Given the description of an element on the screen output the (x, y) to click on. 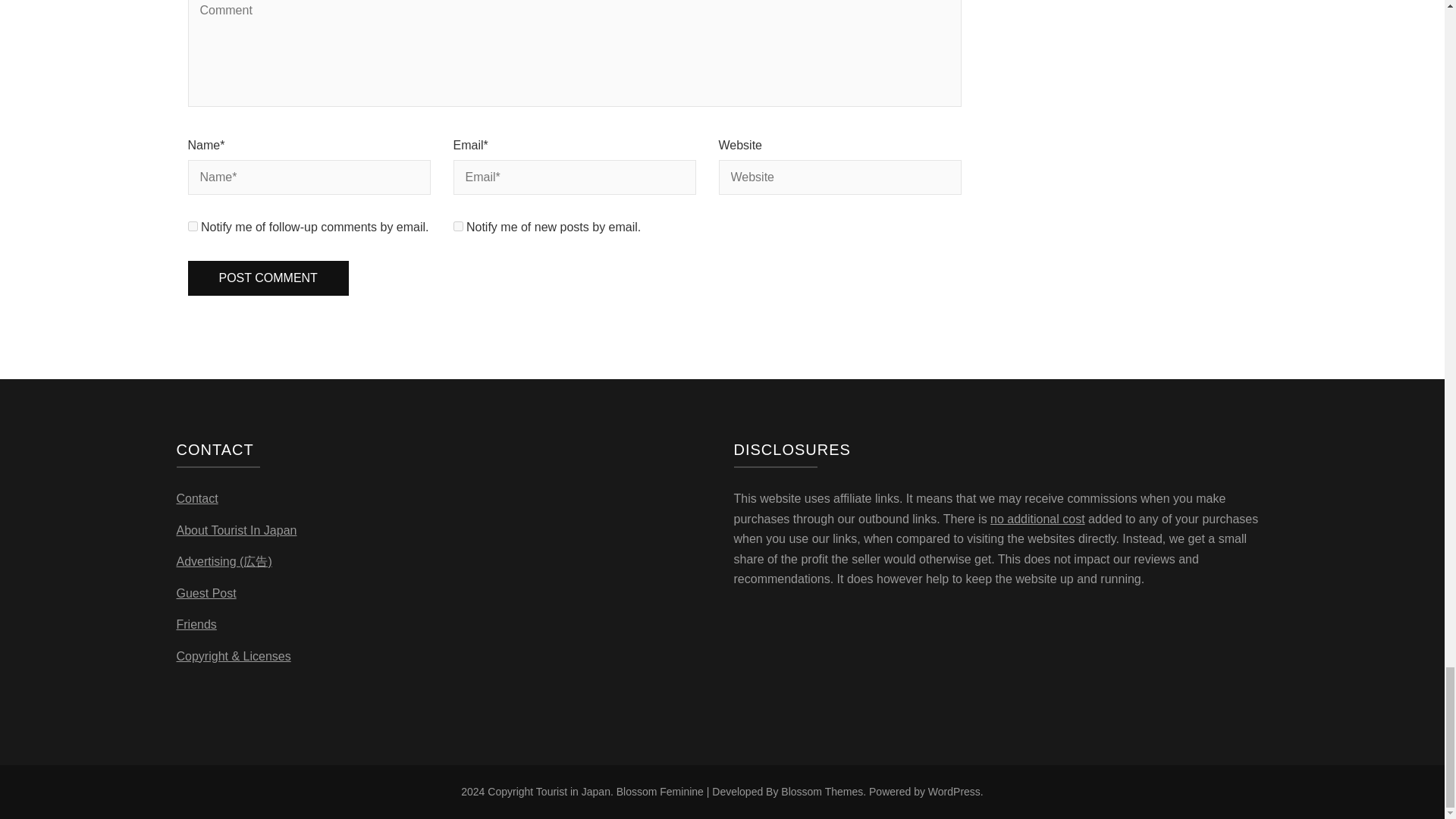
Post Comment (268, 278)
subscribe (457, 225)
subscribe (192, 225)
